Given the description of an element on the screen output the (x, y) to click on. 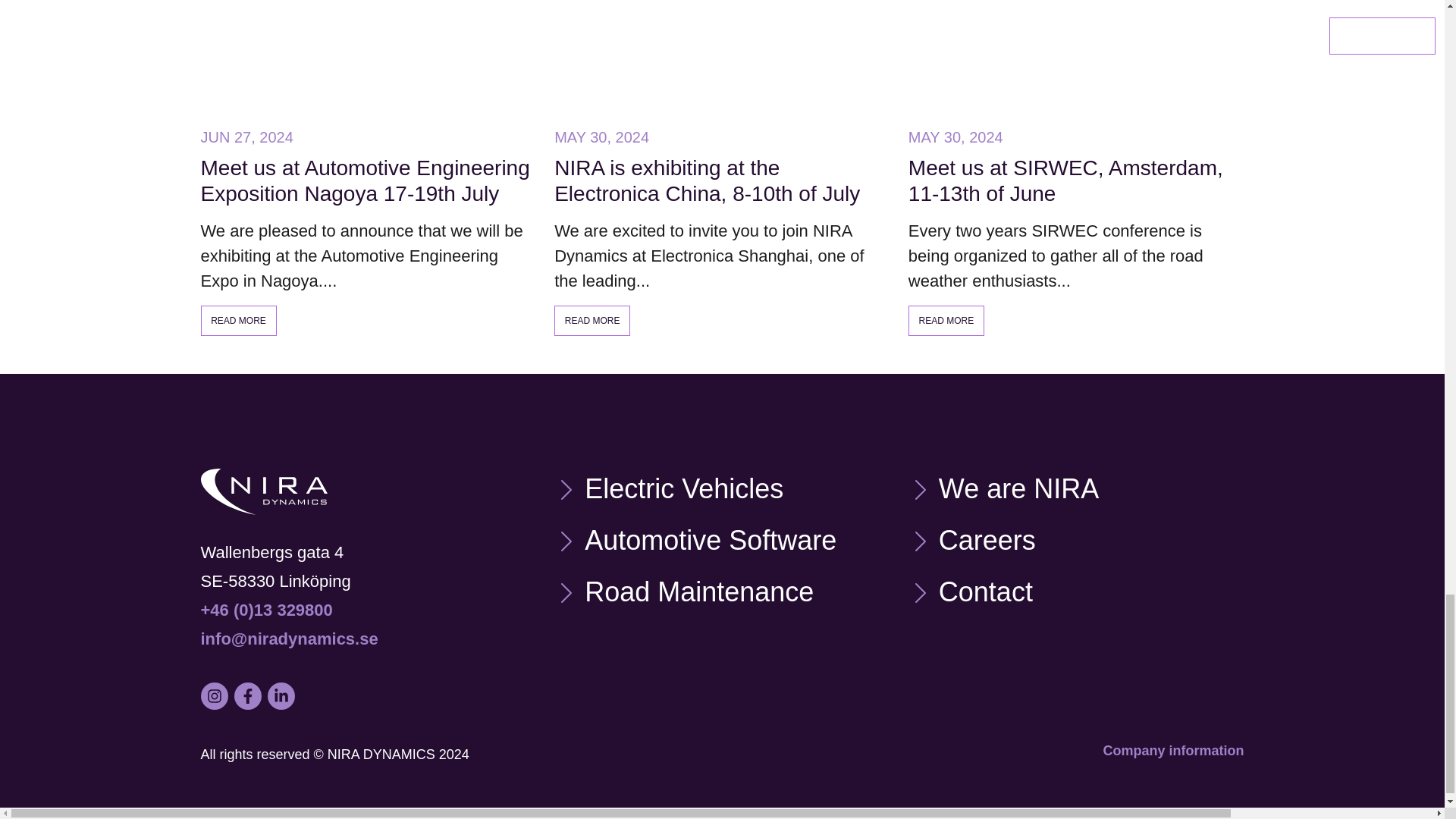
READ MORE (238, 320)
READ MORE (592, 320)
Meet us at SIRWEC, Amsterdam, 11-13th of June (1076, 180)
READ MORE (946, 320)
NIRA is exhibiting at the Electronica China, 8-10th of July (721, 180)
